Given the description of an element on the screen output the (x, y) to click on. 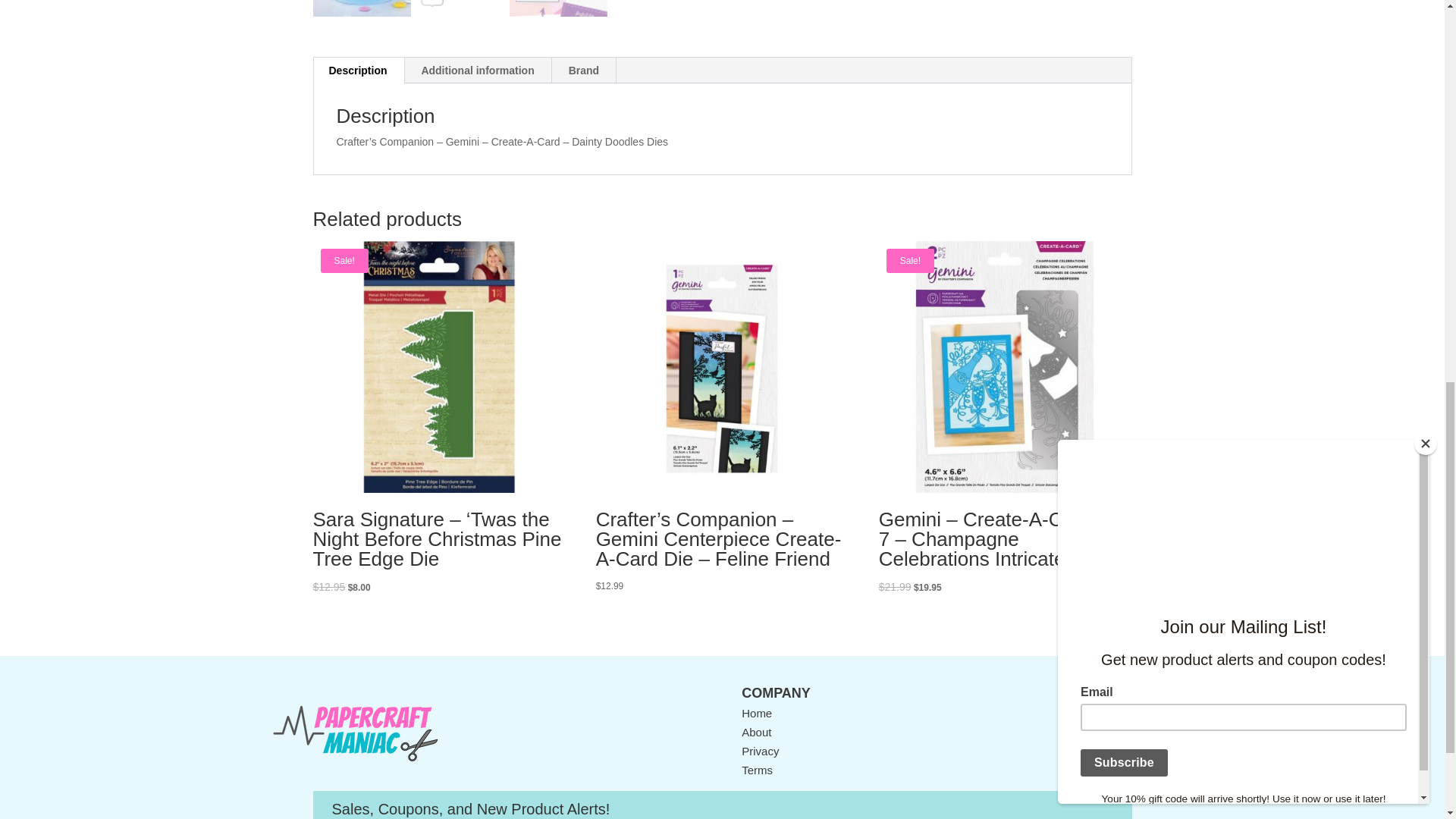
Home (756, 712)
Home (756, 712)
Shipping (1099, 731)
Returns (1096, 750)
Contact (1096, 712)
About (756, 731)
Papercraft Maniac (354, 732)
Description (358, 70)
Contact (1096, 712)
FAQ (1088, 769)
Brand (583, 70)
Shipping (1099, 731)
Additional information (477, 70)
About (756, 731)
Terms (757, 769)
